Given the description of an element on the screen output the (x, y) to click on. 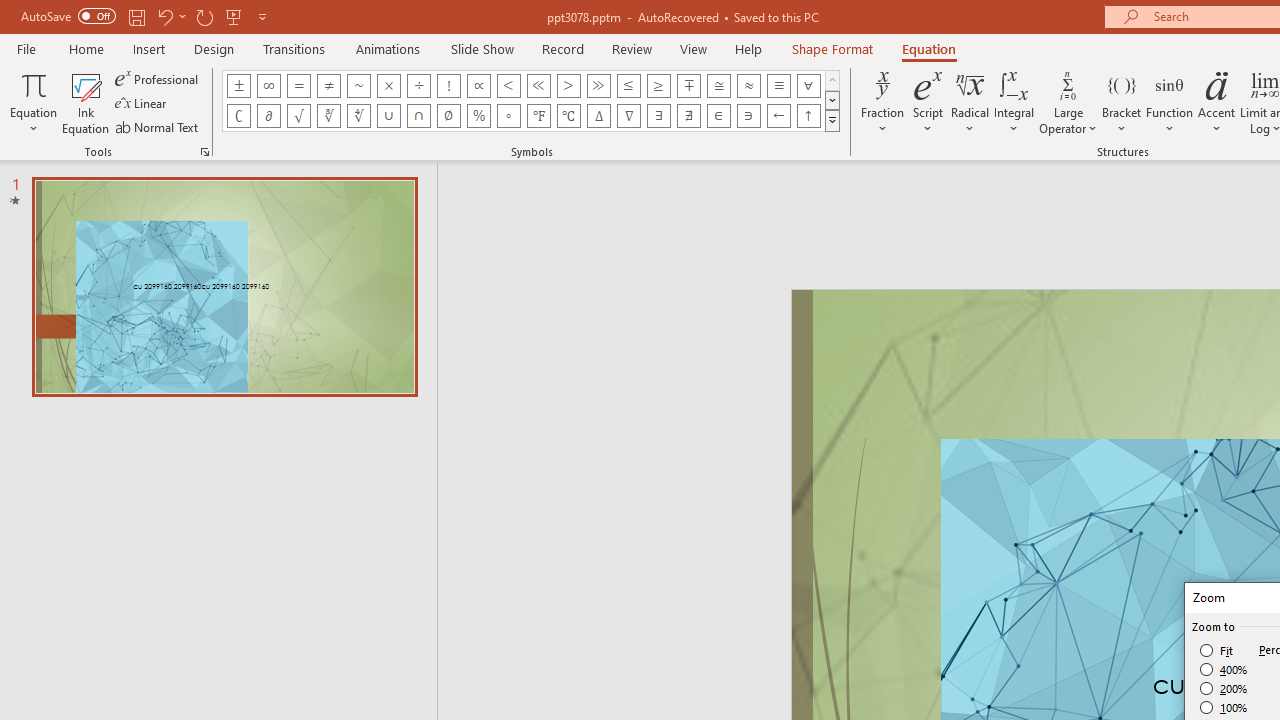
Bracket (1121, 102)
Equation Symbol Not Equal To (328, 85)
Equation Symbol Left Arrow (778, 115)
Script (927, 102)
Equation Symbol Cube Root (328, 115)
AutomationID: EquationSymbolsInsertGallery (532, 100)
Equation Symbol Degrees (508, 115)
Equation Symbol Plus Minus (238, 85)
